Given the description of an element on the screen output the (x, y) to click on. 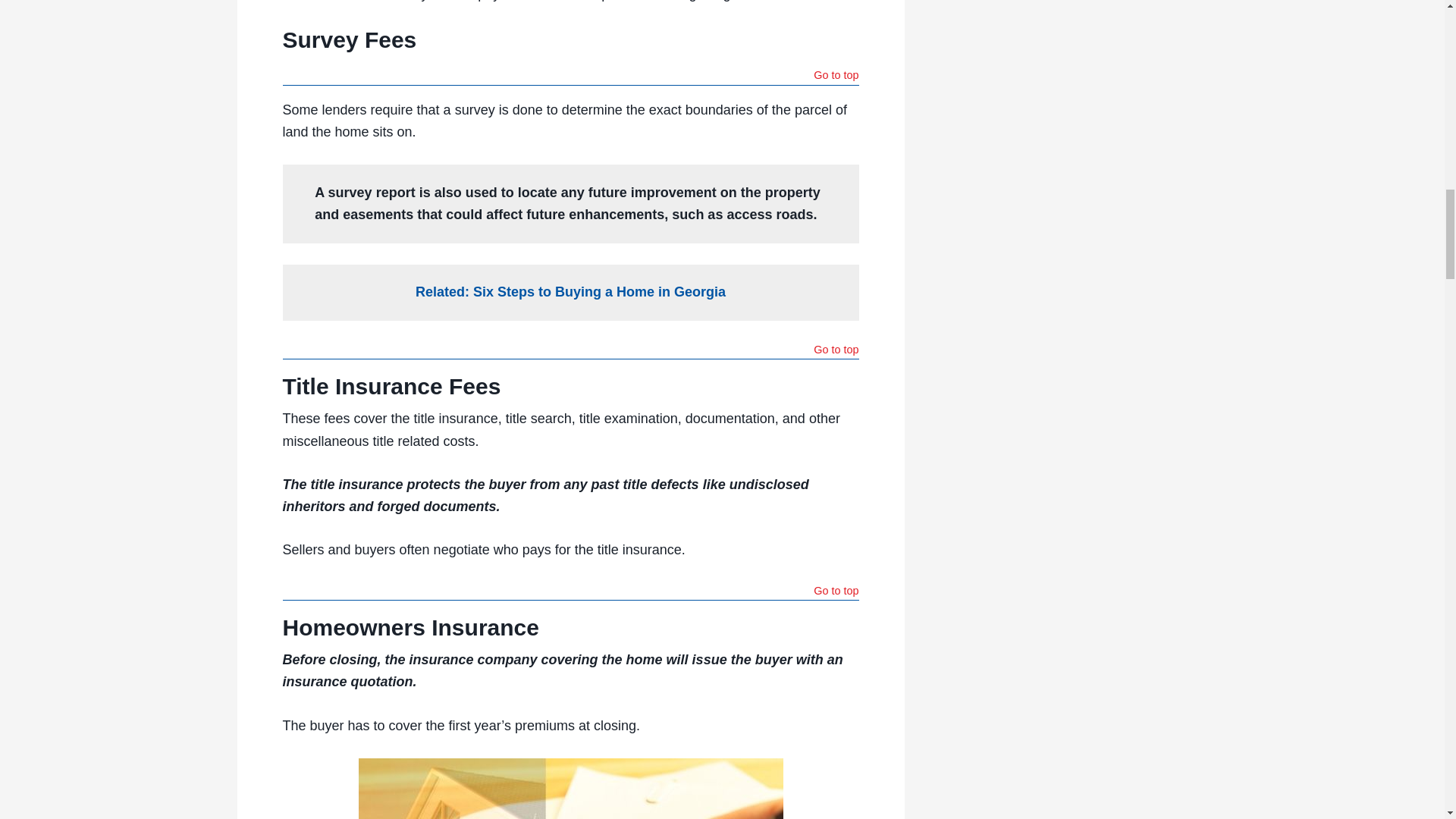
Related: Six Steps to Buying a Home in Georgia (569, 291)
Go to top (836, 76)
Go to top (836, 350)
Go to top (836, 592)
